Given the description of an element on the screen output the (x, y) to click on. 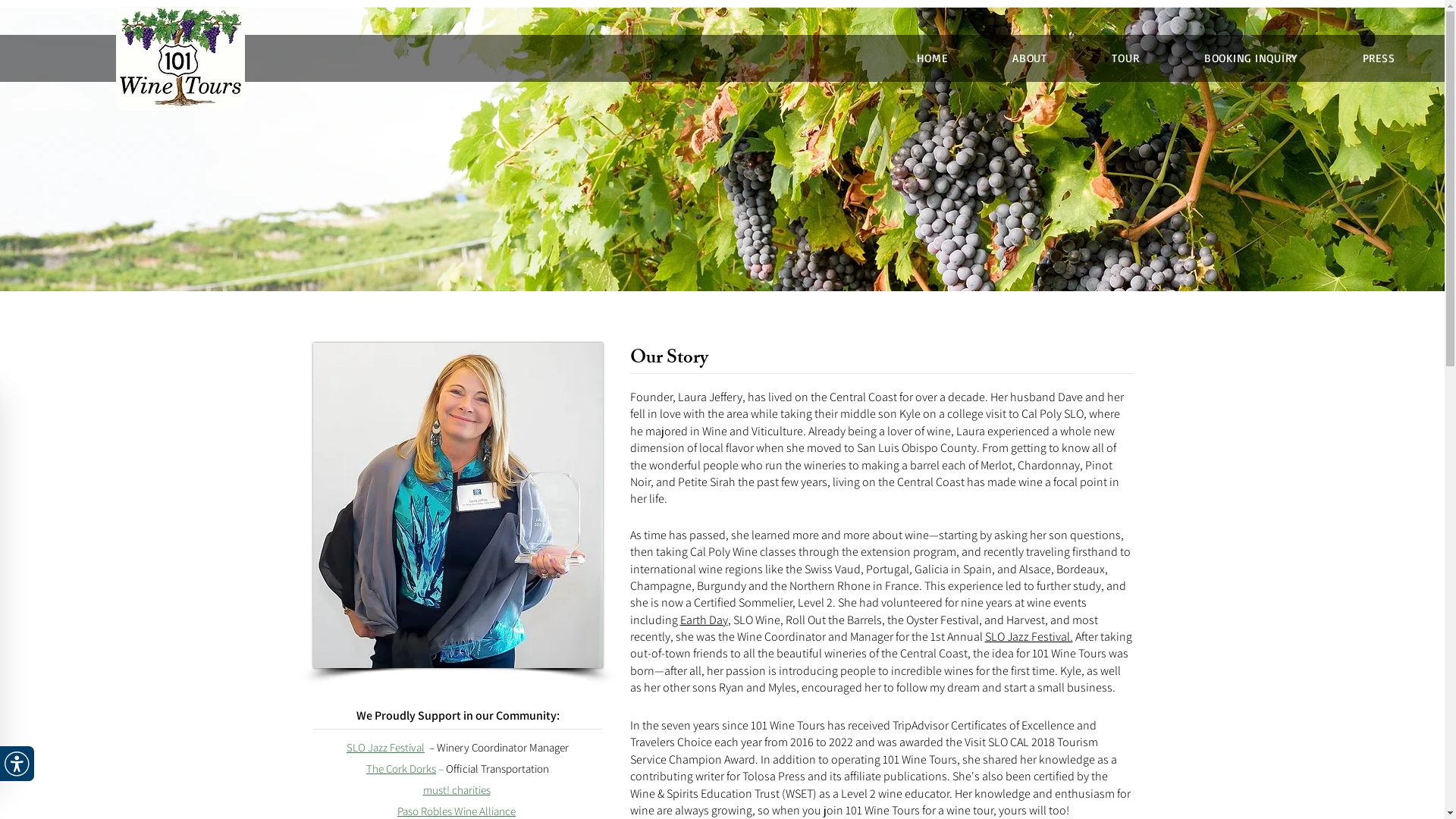
PRESS Element type: text (1378, 57)
Earth Day Element type: text (703, 619)
SLO Jazz Festival. Element type: text (1028, 636)
HOME Element type: text (931, 57)
must! charities Element type: text (456, 789)
TOUR Element type: text (1125, 57)
The Cork Dorks Element type: text (401, 768)
ABOUT Element type: text (1029, 57)
Paso Robles Wine Alliance Element type: text (456, 810)
SLO Jazz Festival Element type: text (385, 747)
BOOKING INQUIRY Element type: text (1250, 57)
